Given the description of an element on the screen output the (x, y) to click on. 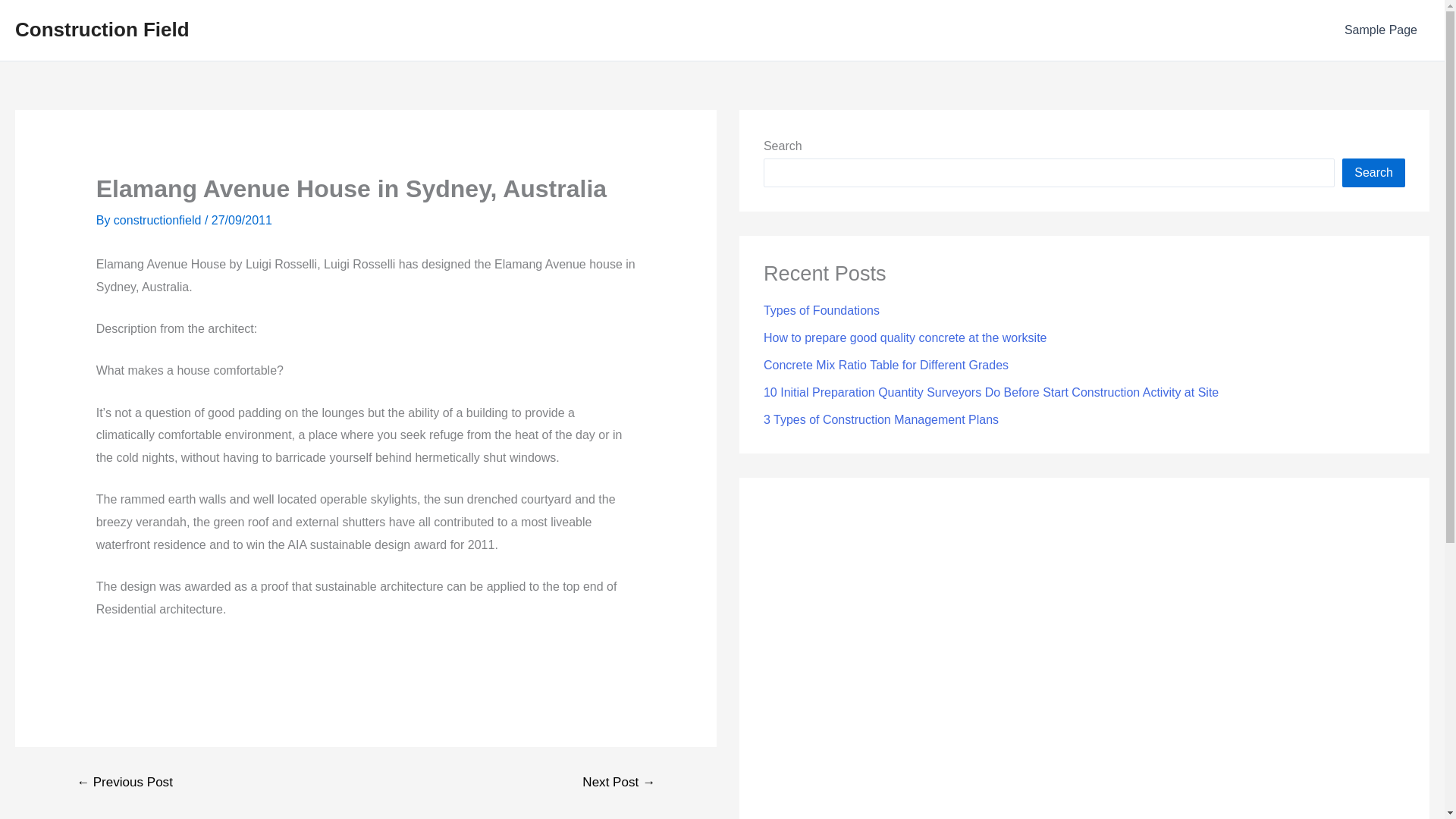
Search (1373, 172)
Construction Field (101, 29)
Sample Page (1380, 30)
Concrete Mix Ratio Table for Different Grades (885, 364)
How to prepare good quality concrete at the worksite (904, 337)
View all posts by constructionfield (159, 219)
Types of Foundations (820, 309)
constructionfield (159, 219)
3 Types of Construction Management Plans (880, 419)
